Given the description of an element on the screen output the (x, y) to click on. 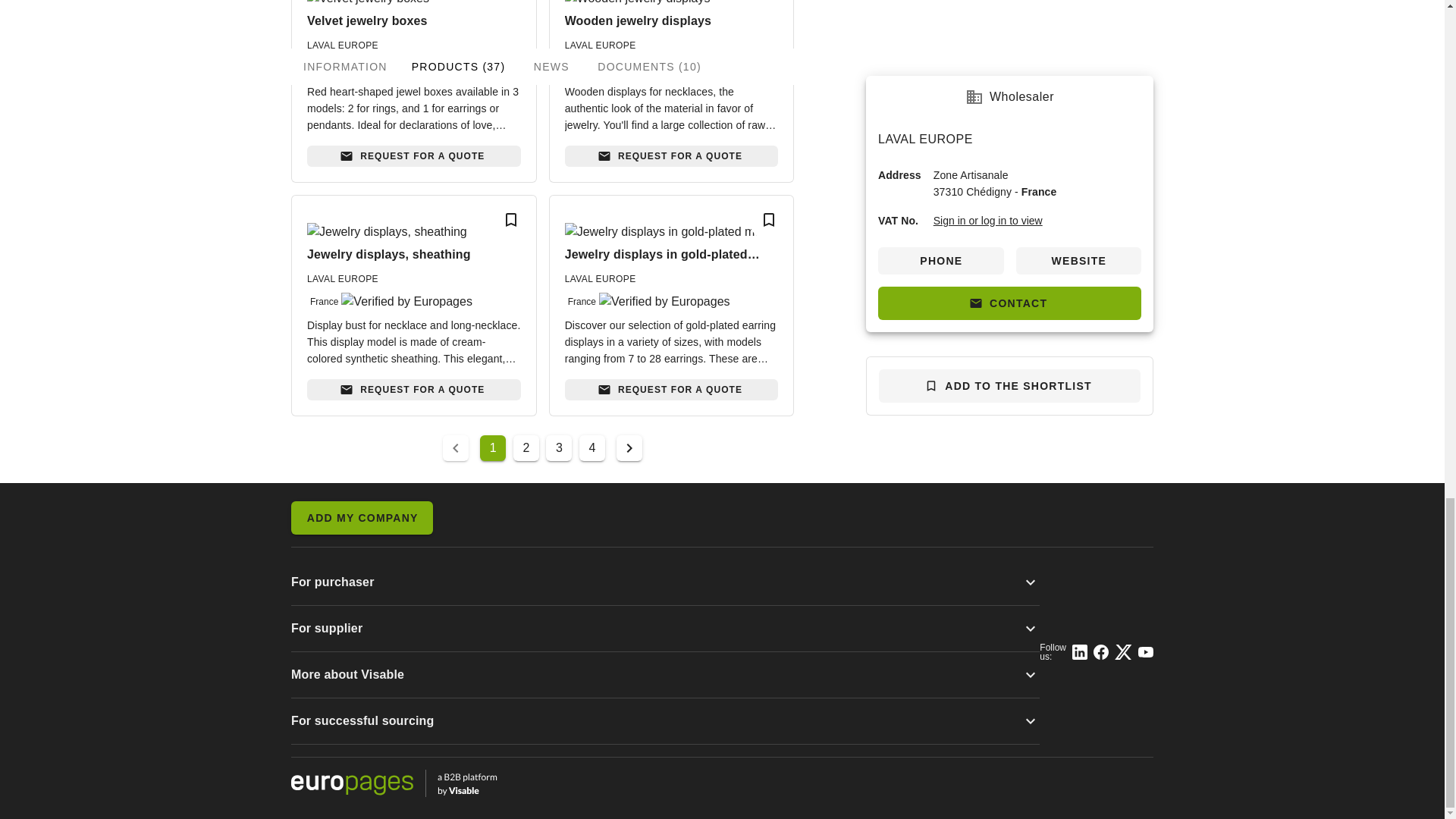
Add my company (361, 517)
Facebook - europages (1100, 652)
Twitter - europages (1123, 652)
Linkedin - europages (1079, 652)
Youtube - europages (1145, 652)
